Given the description of an element on the screen output the (x, y) to click on. 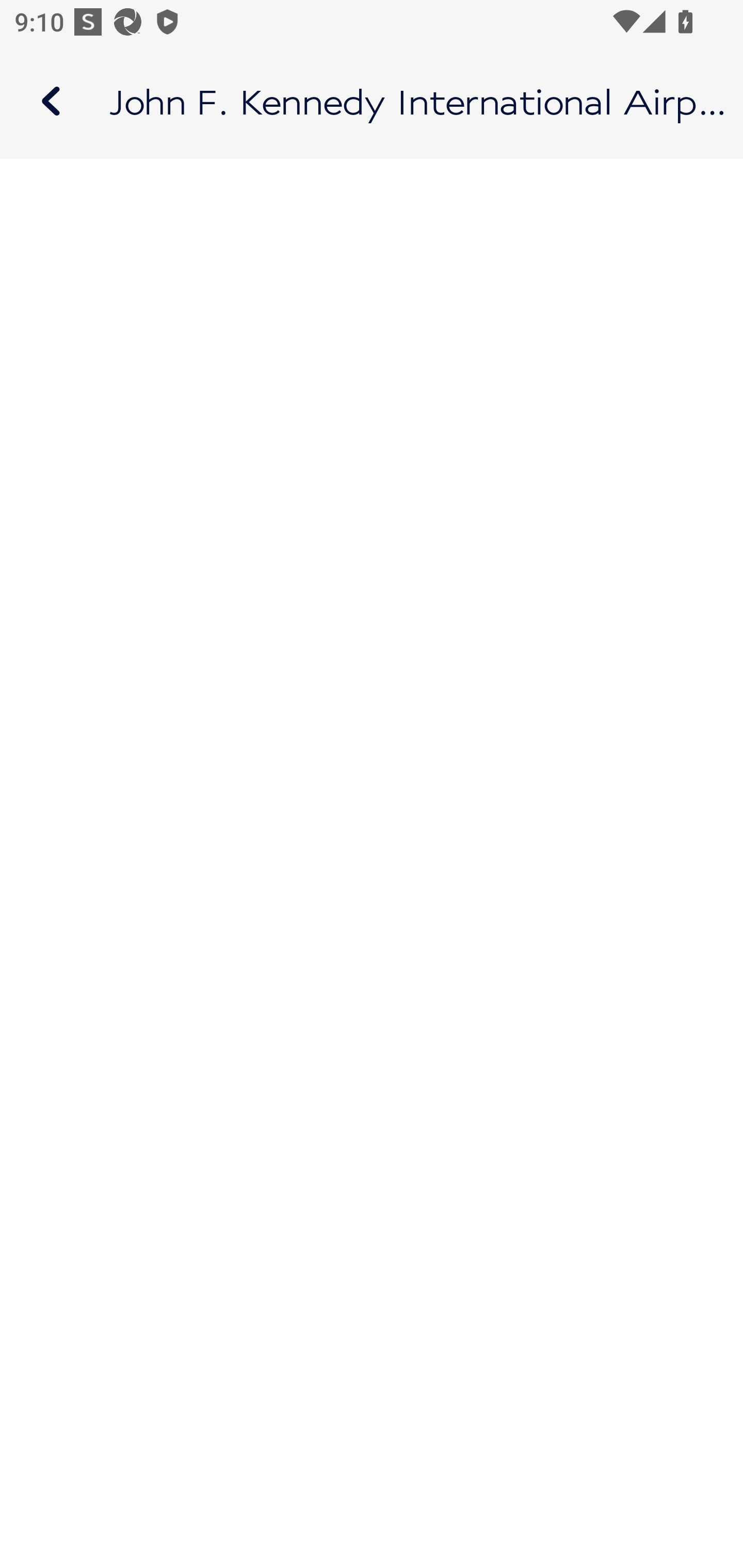
Airport map (371, 100)
